Given the description of an element on the screen output the (x, y) to click on. 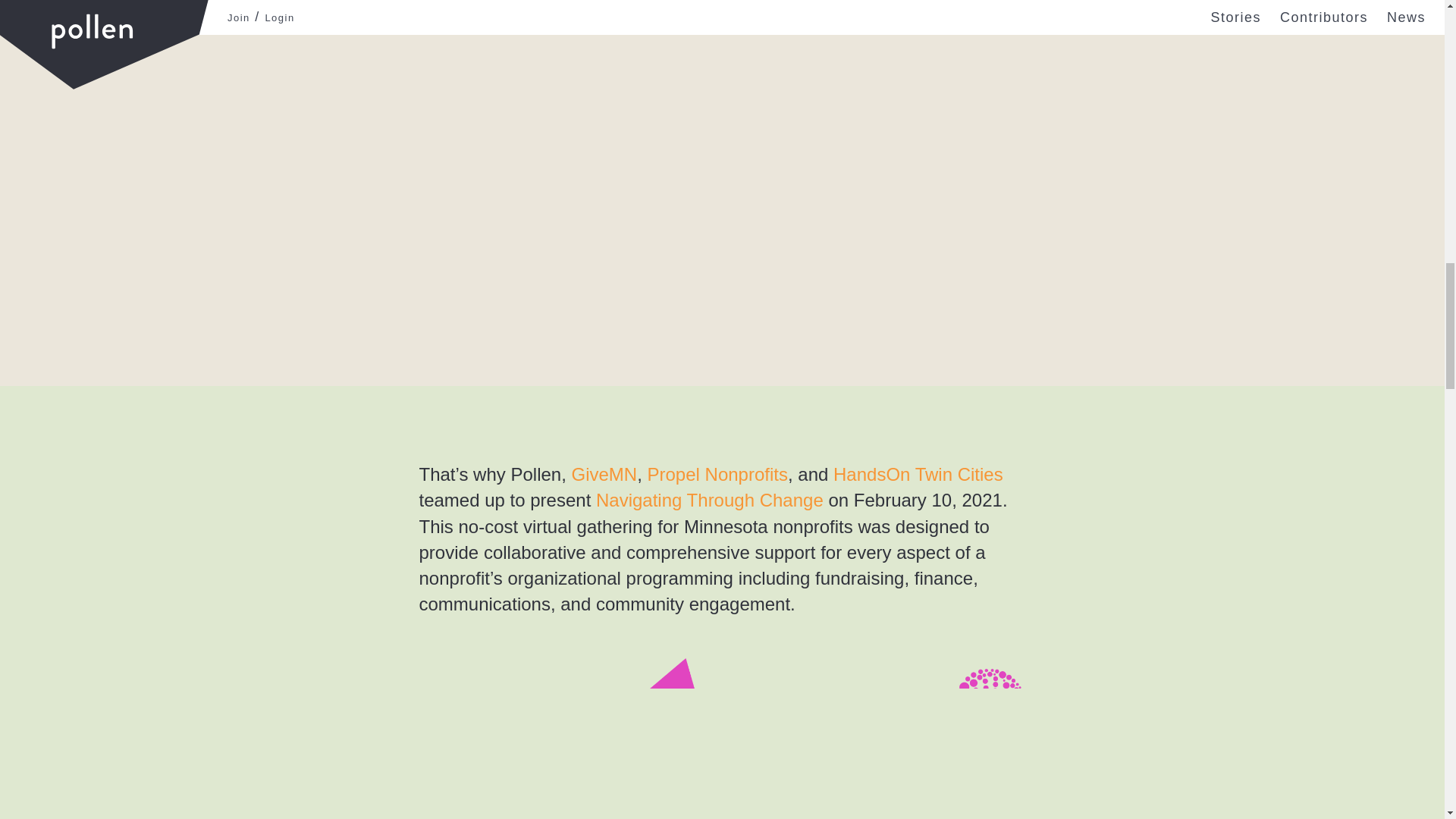
GiveMN (604, 474)
HandsOn Twin Cities (917, 474)
Propel Nonprofits (717, 474)
Navigating Through Change (709, 499)
